Given the description of an element on the screen output the (x, y) to click on. 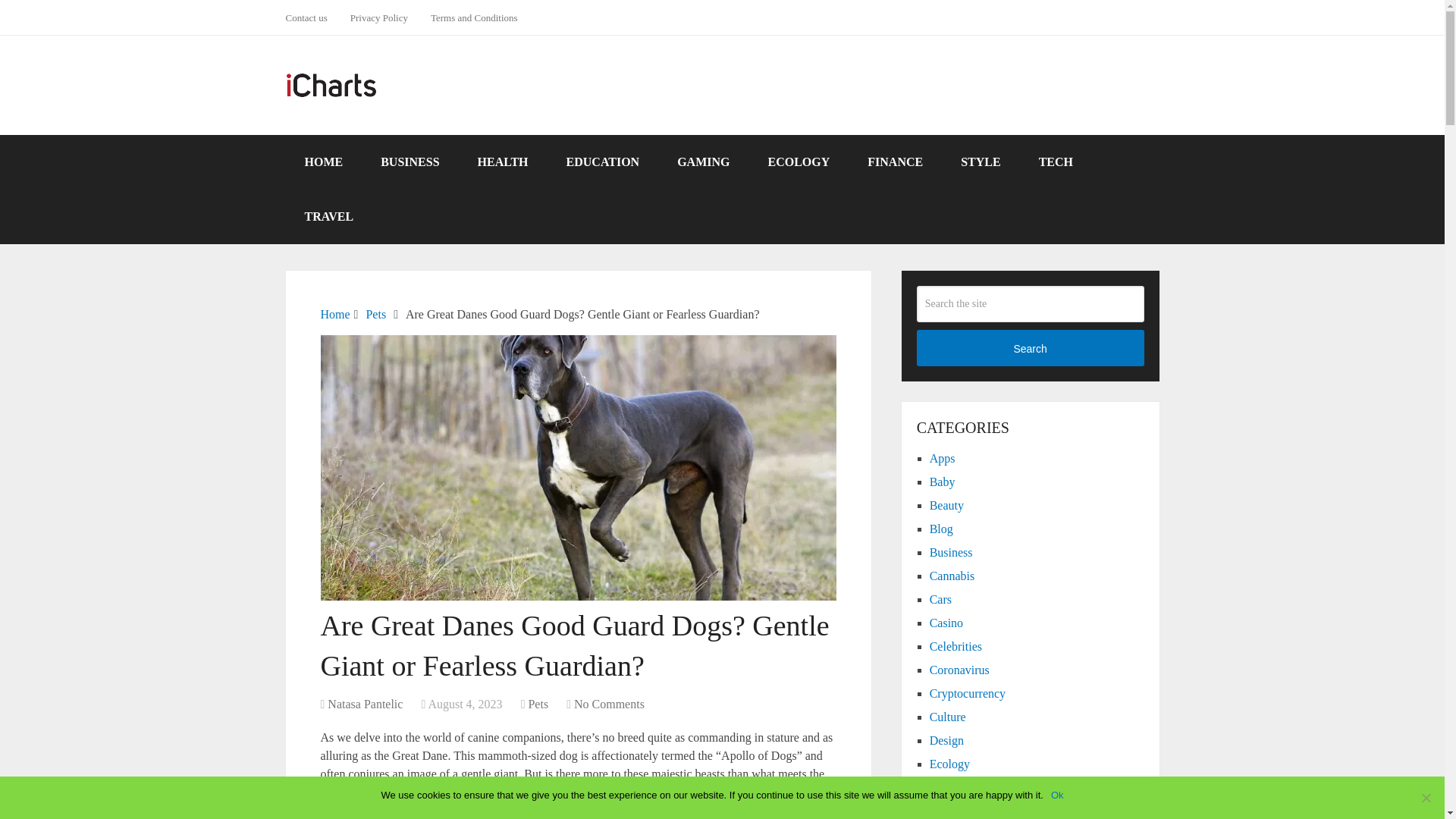
GAMING (703, 162)
Pets (375, 314)
ECOLOGY (798, 162)
Beauty (946, 504)
HOME (323, 162)
View all posts in Pets (537, 703)
Home (334, 314)
Apps (942, 458)
Contact us (311, 17)
HEALTH (502, 162)
